Given the description of an element on the screen output the (x, y) to click on. 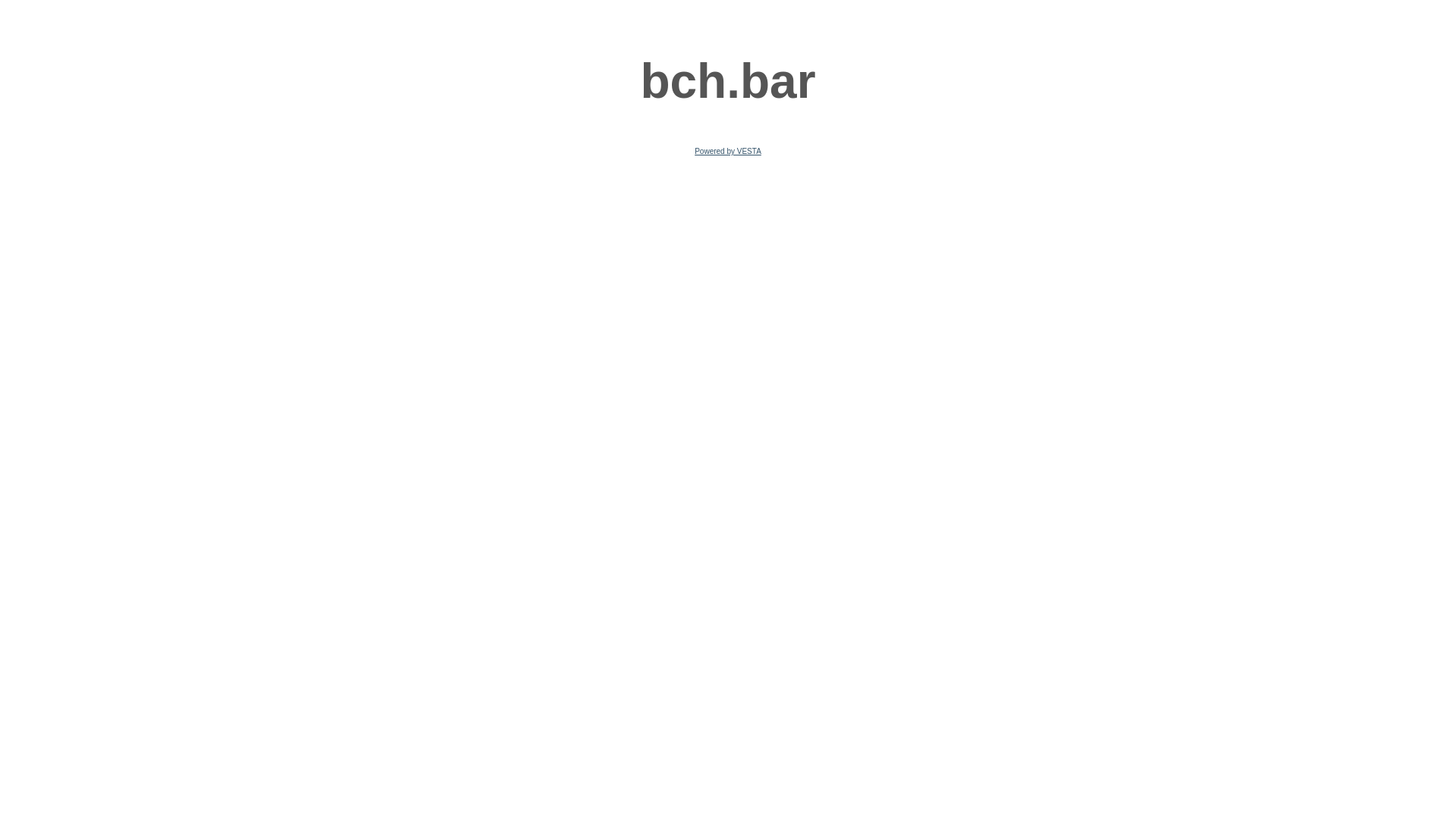
Powered by VESTA Element type: text (727, 151)
